Given the description of an element on the screen output the (x, y) to click on. 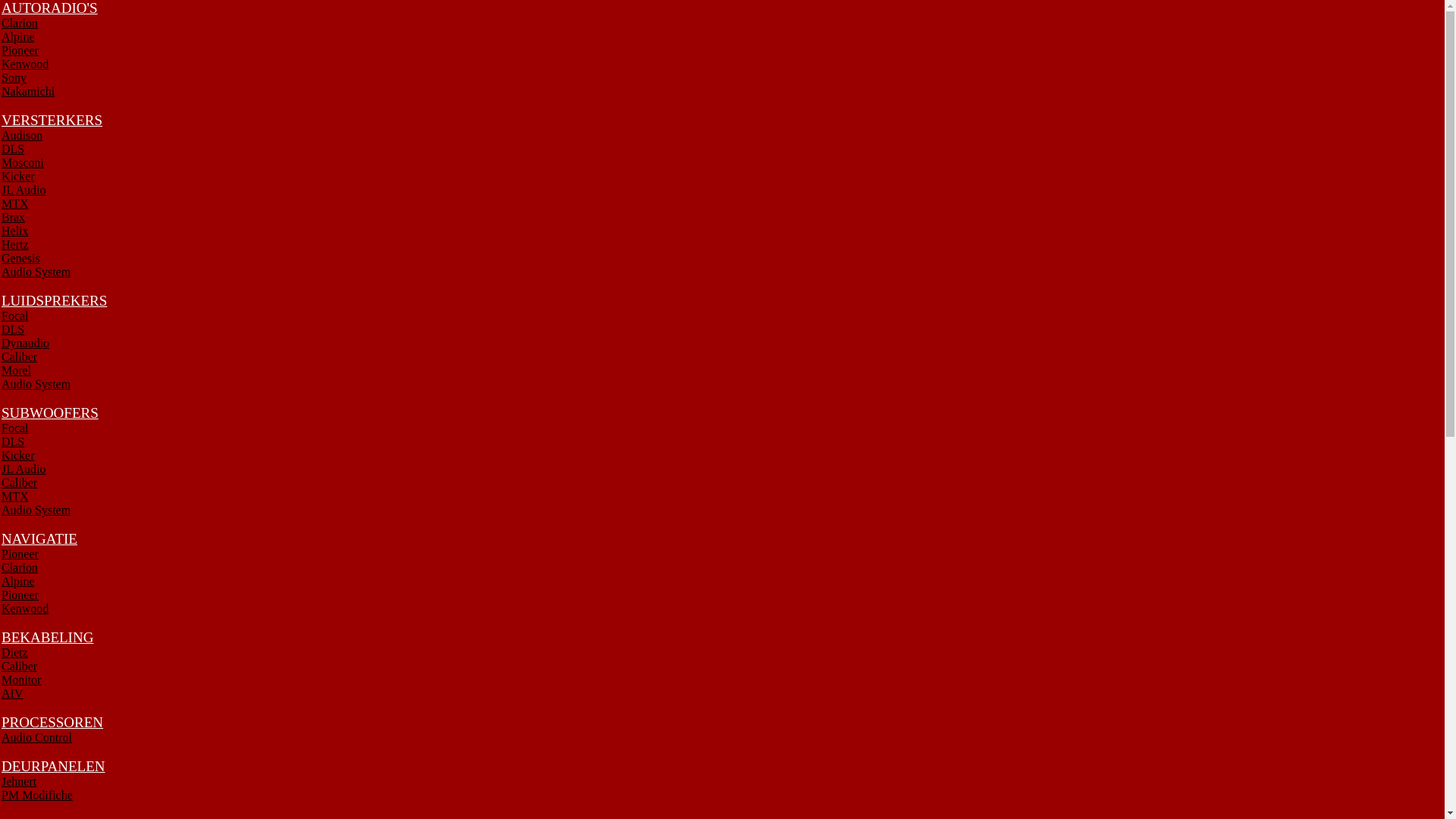
Sony Element type: text (13, 77)
Alpine Element type: text (17, 36)
Dynaudio Element type: text (25, 342)
Audio System Element type: text (35, 509)
Nakamichi Element type: text (27, 90)
Clarion Element type: text (19, 22)
MTX Element type: text (14, 203)
MTX Element type: text (14, 495)
Dietz Element type: text (14, 652)
JL Audio Element type: text (23, 189)
Monitor Element type: text (20, 679)
Morel Element type: text (16, 370)
Kenwood Element type: text (24, 608)
Caliber Element type: text (19, 356)
Kicker Element type: text (17, 175)
Focal Element type: text (14, 315)
Audio Control Element type: text (36, 737)
Alpine Element type: text (17, 580)
Brax Element type: text (13, 216)
Genesis Element type: text (20, 257)
DLS Element type: text (12, 148)
Audio System Element type: text (35, 271)
Mosconi Element type: text (22, 162)
Jehnert Element type: text (18, 781)
AIV Element type: text (11, 693)
DLS Element type: text (12, 329)
Clarion Element type: text (19, 567)
Pioneer Element type: text (19, 553)
Pioneer Element type: text (19, 49)
JL Audio Element type: text (23, 468)
Focal Element type: text (14, 427)
Pioneer Element type: text (19, 594)
PM Modifiche Element type: text (36, 794)
Hertz Element type: text (14, 244)
Helix Element type: text (14, 230)
Caliber Element type: text (19, 665)
Caliber Element type: text (19, 482)
Audison Element type: text (21, 134)
DLS Element type: text (12, 441)
Kicker Element type: text (17, 454)
Audio System Element type: text (35, 383)
Kenwood Element type: text (24, 63)
